Given the description of an element on the screen output the (x, y) to click on. 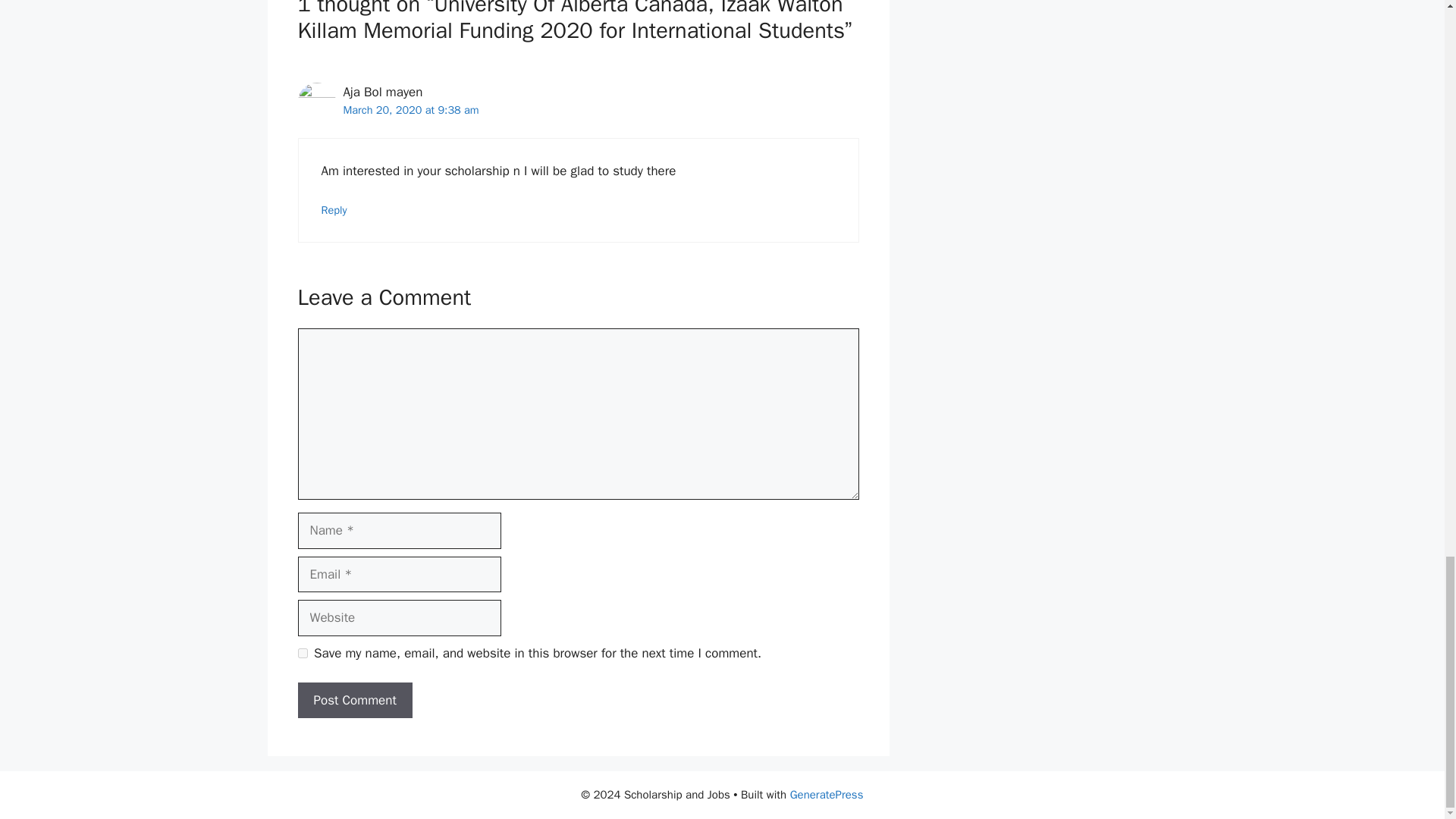
Post Comment (354, 700)
Reply (334, 210)
Post Comment (354, 700)
March 20, 2020 at 9:38 am (410, 110)
yes (302, 653)
